Given the description of an element on the screen output the (x, y) to click on. 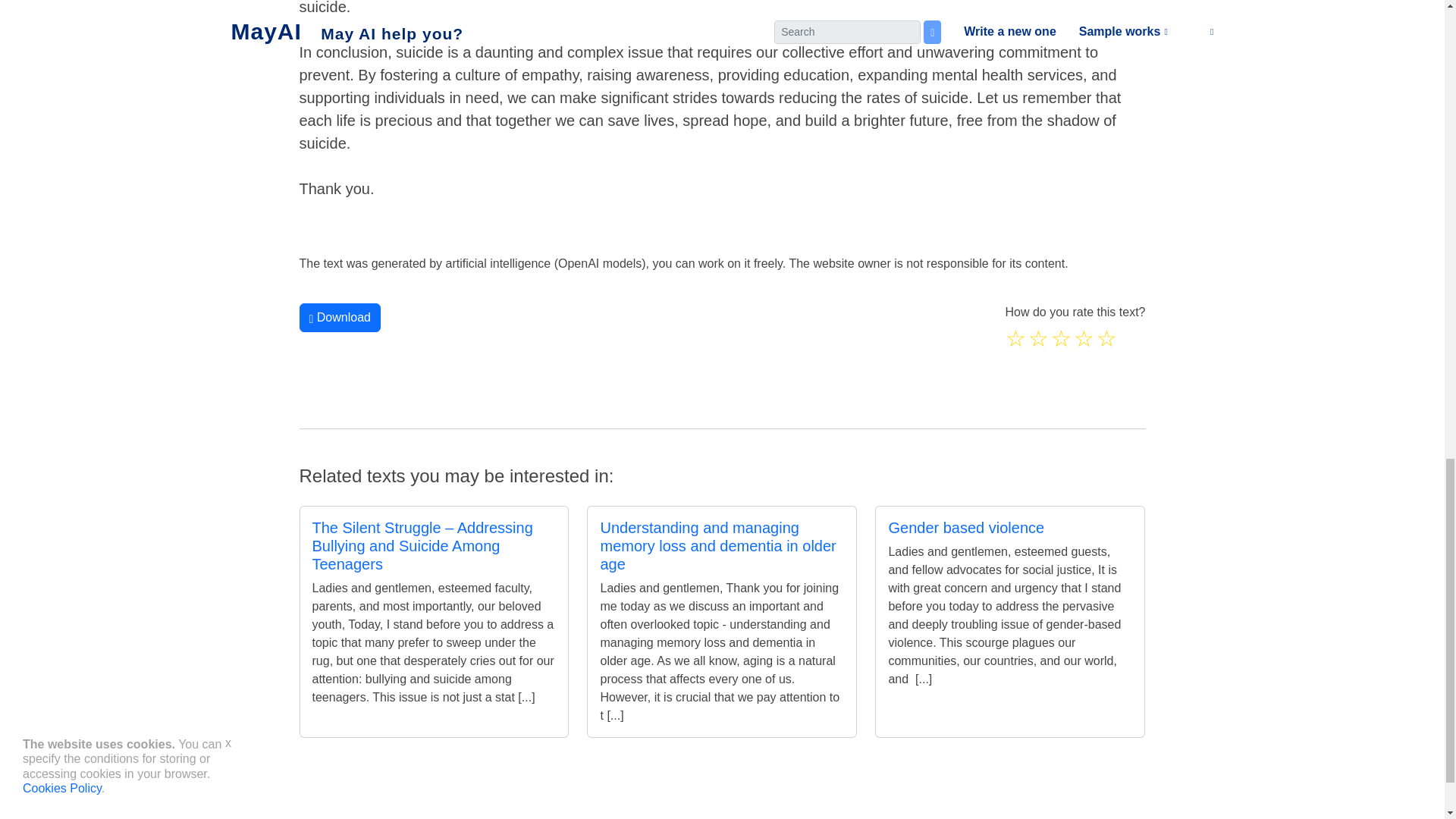
Download (339, 317)
Gender based violence (965, 527)
